Given the description of an element on the screen output the (x, y) to click on. 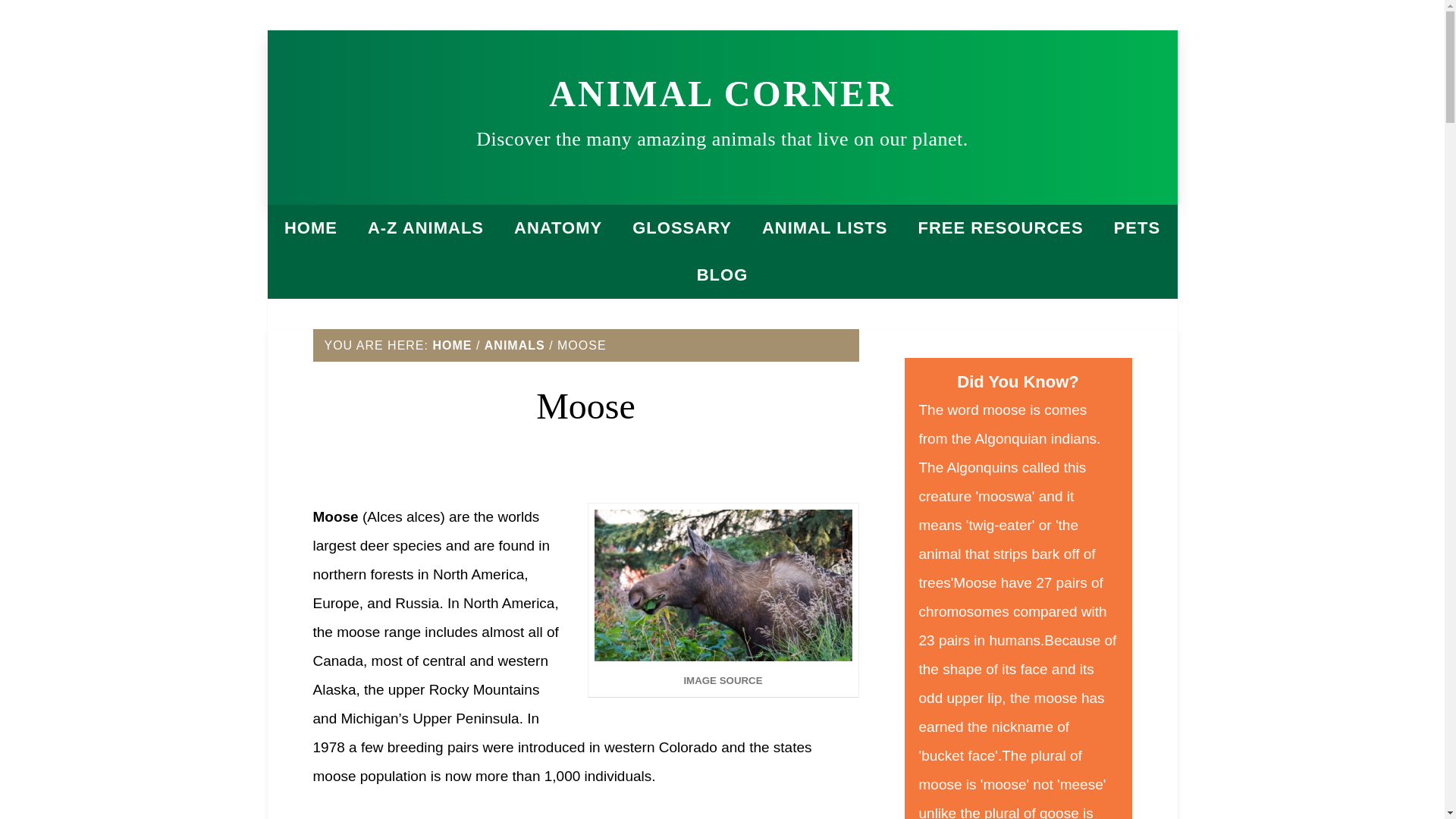
GLOSSARY (681, 227)
ANIMAL LISTS (824, 227)
HOME (451, 345)
FREE RESOURCES (999, 227)
ANATOMY (558, 227)
HOME (310, 227)
BLOG (721, 274)
PETS (1136, 227)
A-Z ANIMALS (425, 227)
IMAGE SOURCE (722, 680)
